Given the description of an element on the screen output the (x, y) to click on. 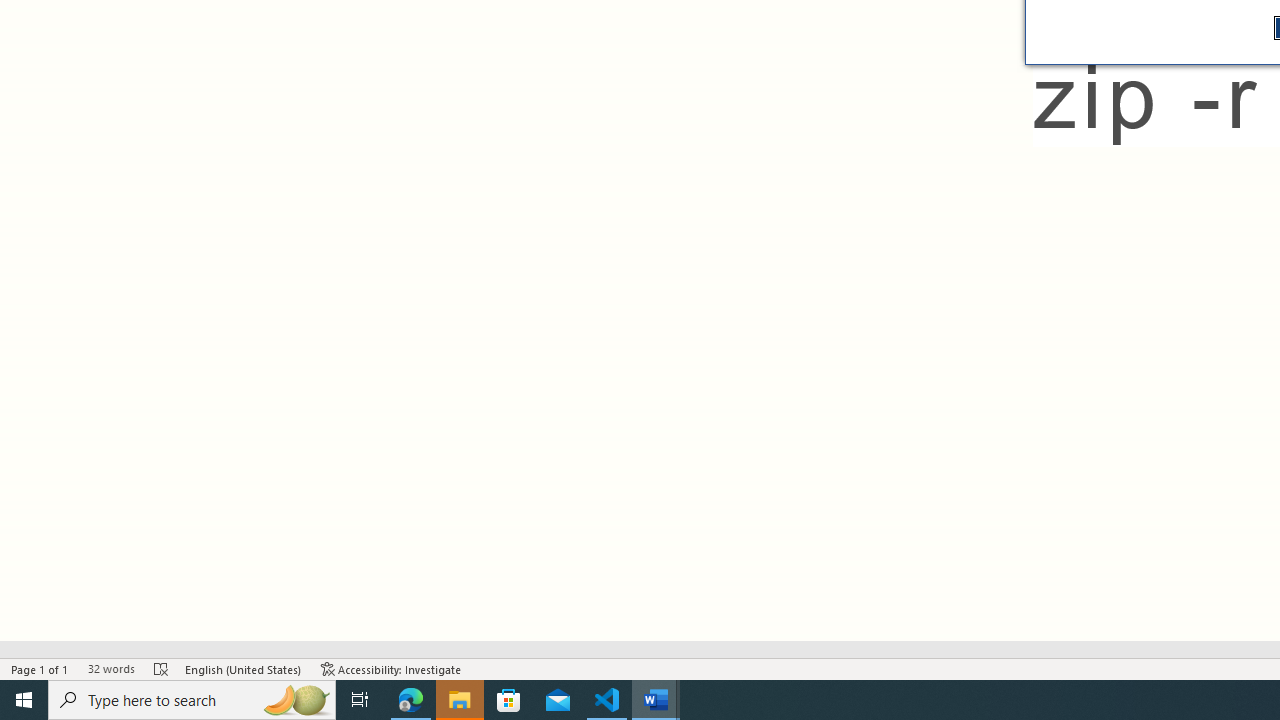
Microsoft Edge - 1 running window (411, 699)
Word Count 32 words (111, 668)
Word - 2 running windows (656, 699)
Type here to search (191, 699)
Search highlights icon opens search home window (295, 699)
Accessibility Checker Accessibility: Investigate (391, 668)
File Explorer - 1 running window (460, 699)
Spelling and Grammar Check Errors (161, 668)
Language English (United States) (243, 668)
Page Number Page 1 of 1 (39, 668)
Microsoft Store (509, 699)
Visual Studio Code - 1 running window (607, 699)
Task View (359, 699)
Start (24, 699)
